Given the description of an element on the screen output the (x, y) to click on. 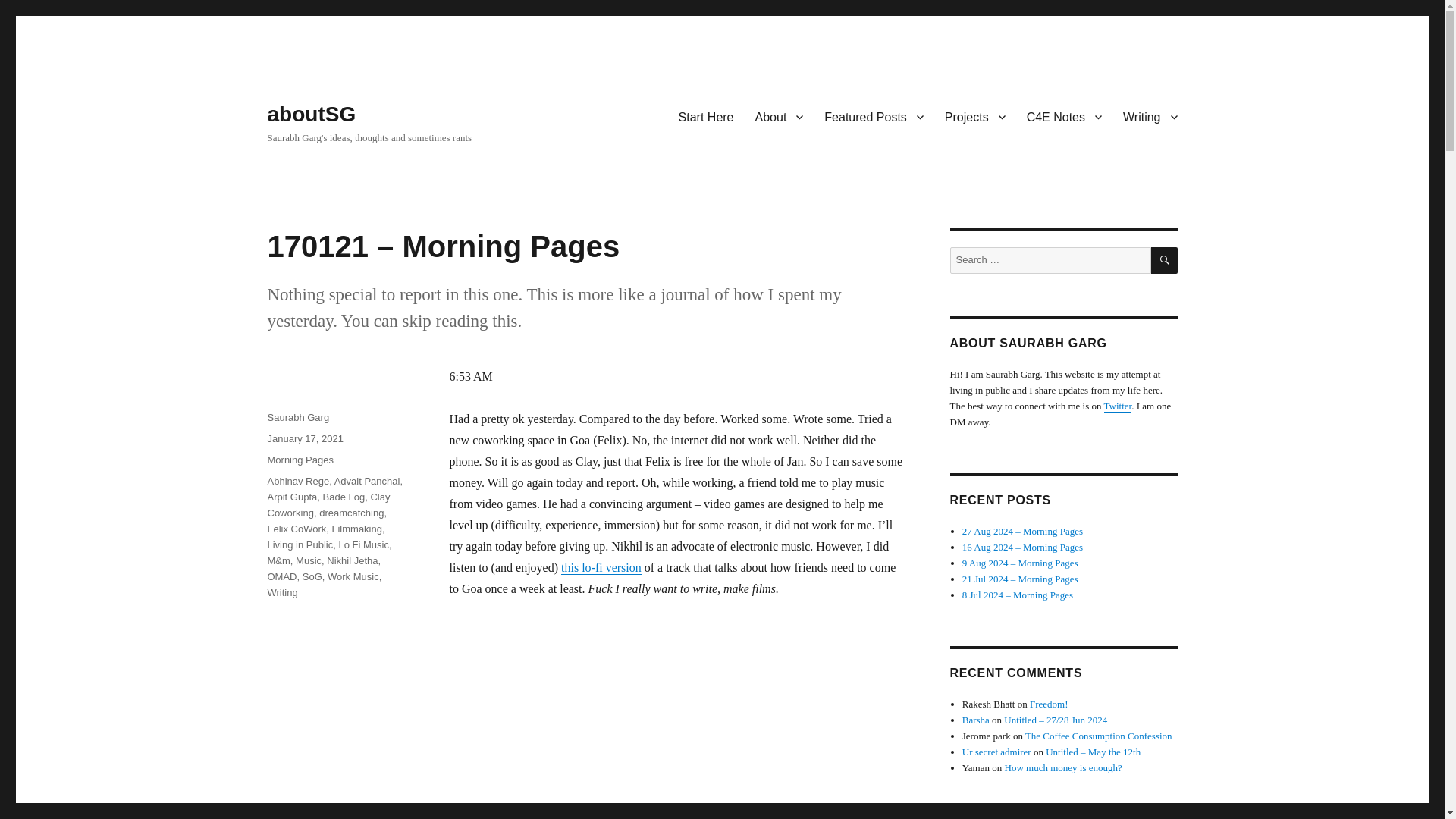
Start Here (706, 116)
Writing (1150, 116)
this lo-fi version (601, 567)
Abhinav Rege (297, 480)
January 17, 2021 (304, 438)
aboutSG (310, 114)
Morning Pages (299, 460)
Saurabh Garg (297, 417)
Projects (975, 116)
C4E Notes (1064, 116)
